Given the description of an element on the screen output the (x, y) to click on. 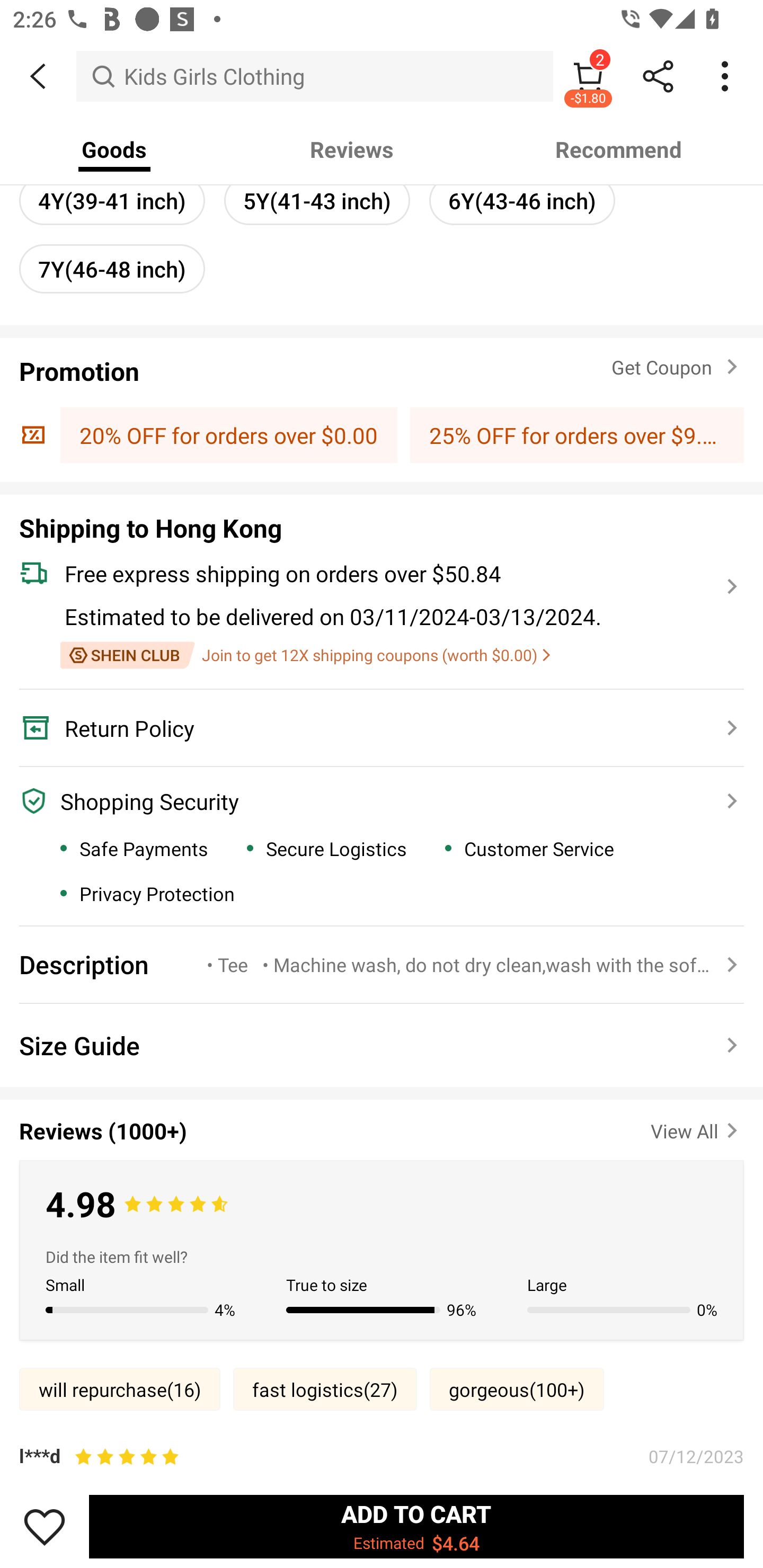
BACK (38, 75)
2 -$1.80 (588, 75)
Kids Girls Clothing (314, 75)
Goods (114, 149)
Reviews (351, 149)
Recommend (618, 149)
4Y(39-41 inch) 4Y(39-41 inch)unselected option (112, 200)
5Y(41-43 inch) 5Y(41-43 inch)unselected option (317, 200)
6Y(43-46 inch) 6Y(43-46 inch)unselected option (521, 200)
7Y(46-48 inch) 7Y(46-48 inch)unselected option (112, 268)
Join to get 12X shipping coupons (worth $0.00) (305, 655)
Return Policy (370, 728)
Size Guide (381, 1044)
will repurchase(16) (119, 1389)
fast logistics(27) (325, 1389)
gorgeous(100‎+) (516, 1389)
ADD TO CART Estimated   $4.64 (416, 1526)
Save (44, 1526)
